Given the description of an element on the screen output the (x, y) to click on. 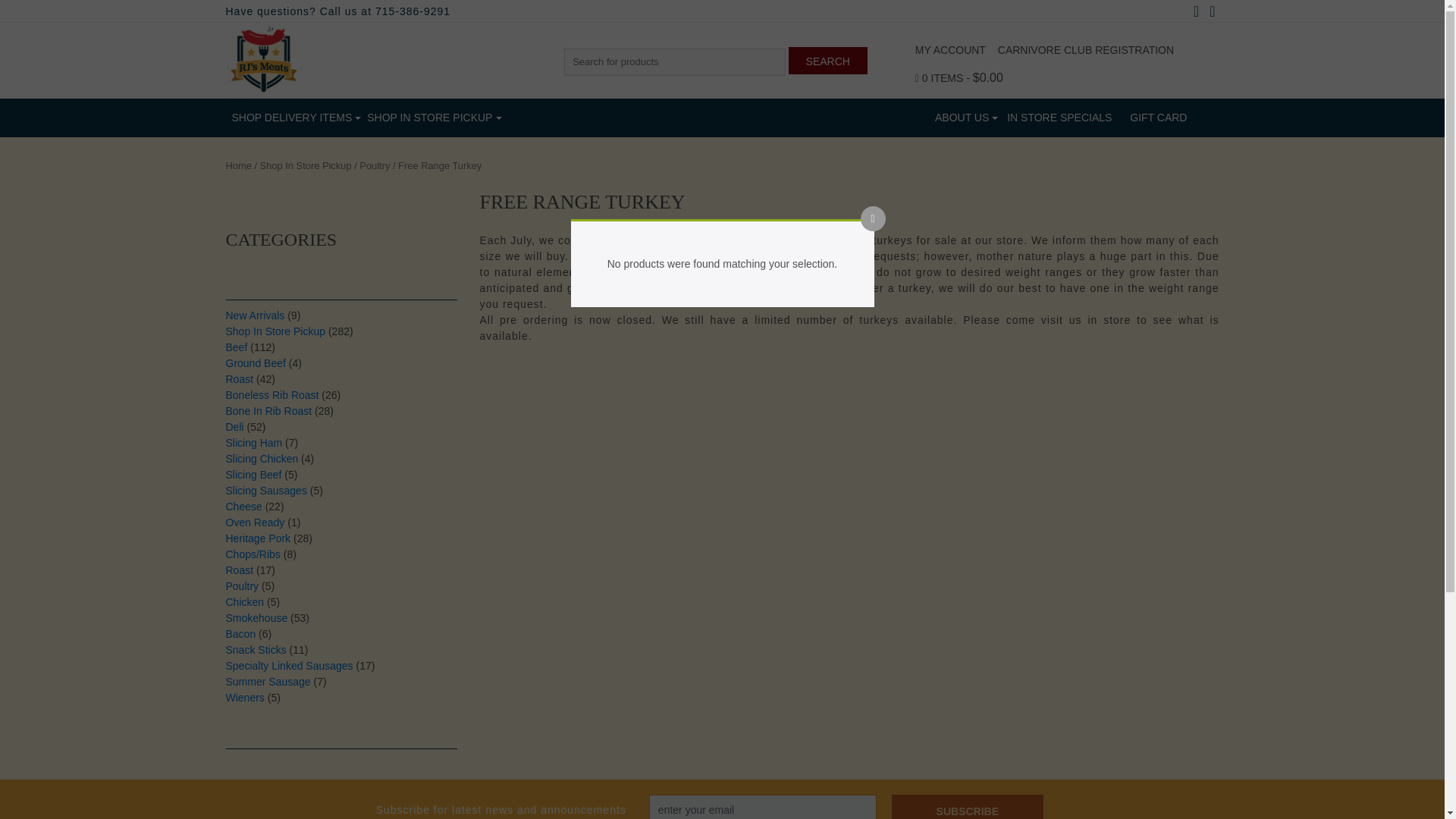
Search (828, 60)
Search (828, 60)
Start shopping (959, 77)
MY ACCOUNT (950, 49)
Instagram (1211, 12)
715-386-9291 (412, 10)
SHOP DELIVERY ITEMS (288, 117)
SHOP IN STORE PICKUP (426, 117)
Facebook (1195, 12)
Search (828, 60)
CARNIVORE CLUB REGISTRATION (1085, 49)
